Given the description of an element on the screen output the (x, y) to click on. 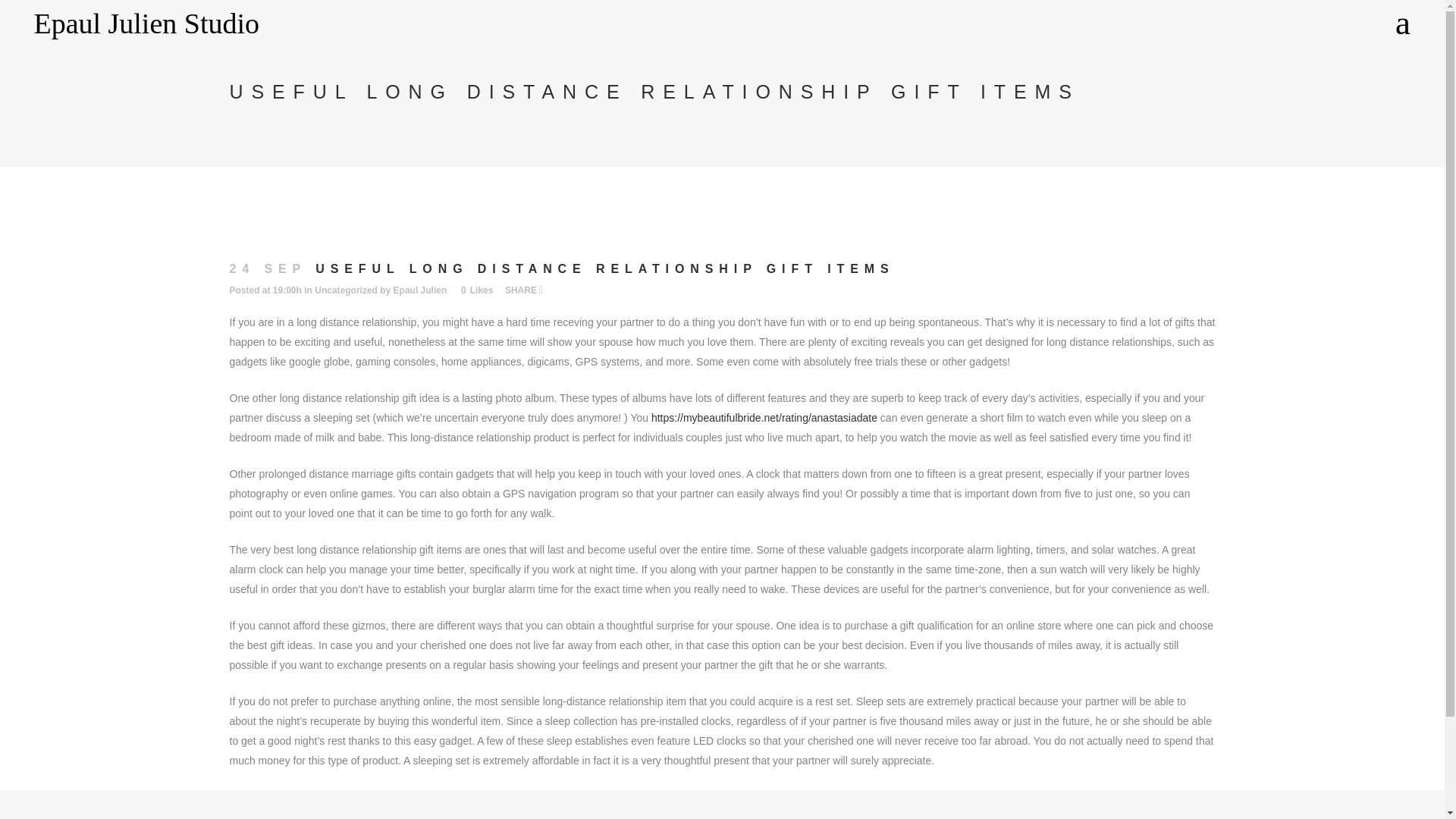
SHARE (524, 290)
Like this (477, 290)
Uncategorized (345, 290)
Epaul Julien (419, 290)
0 Likes (477, 290)
